Given the description of an element on the screen output the (x, y) to click on. 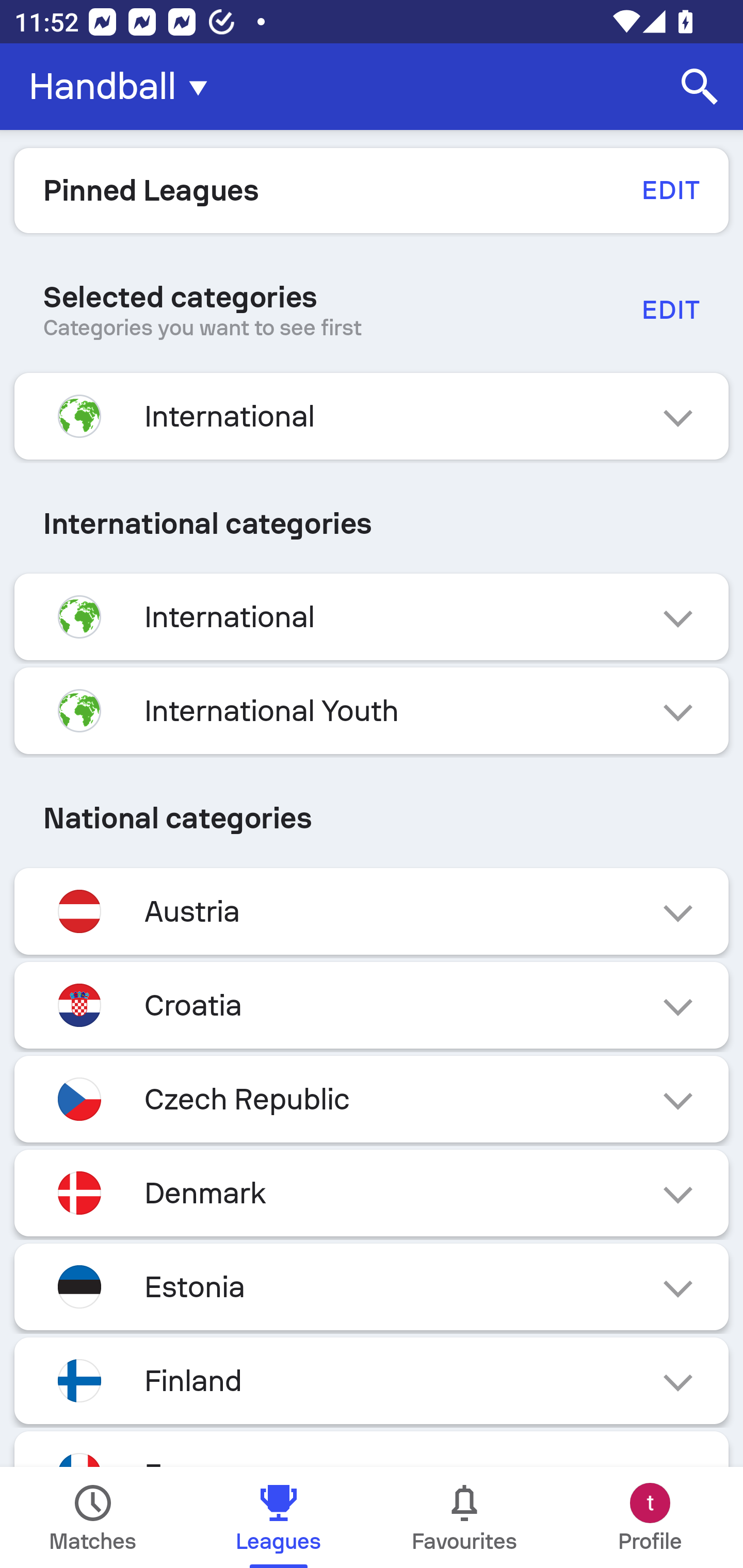
Handball (124, 86)
Search (699, 86)
Pinned Leagues EDIT (371, 190)
EDIT (670, 190)
EDIT (670, 309)
International (371, 416)
International categories (371, 523)
International (371, 616)
International Youth (371, 710)
National categories (371, 817)
Austria (371, 911)
Croatia (371, 1004)
Czech Republic (371, 1099)
Denmark (371, 1192)
Estonia (371, 1286)
Finland (371, 1380)
Matches (92, 1517)
Favourites (464, 1517)
Profile (650, 1517)
